Given the description of an element on the screen output the (x, y) to click on. 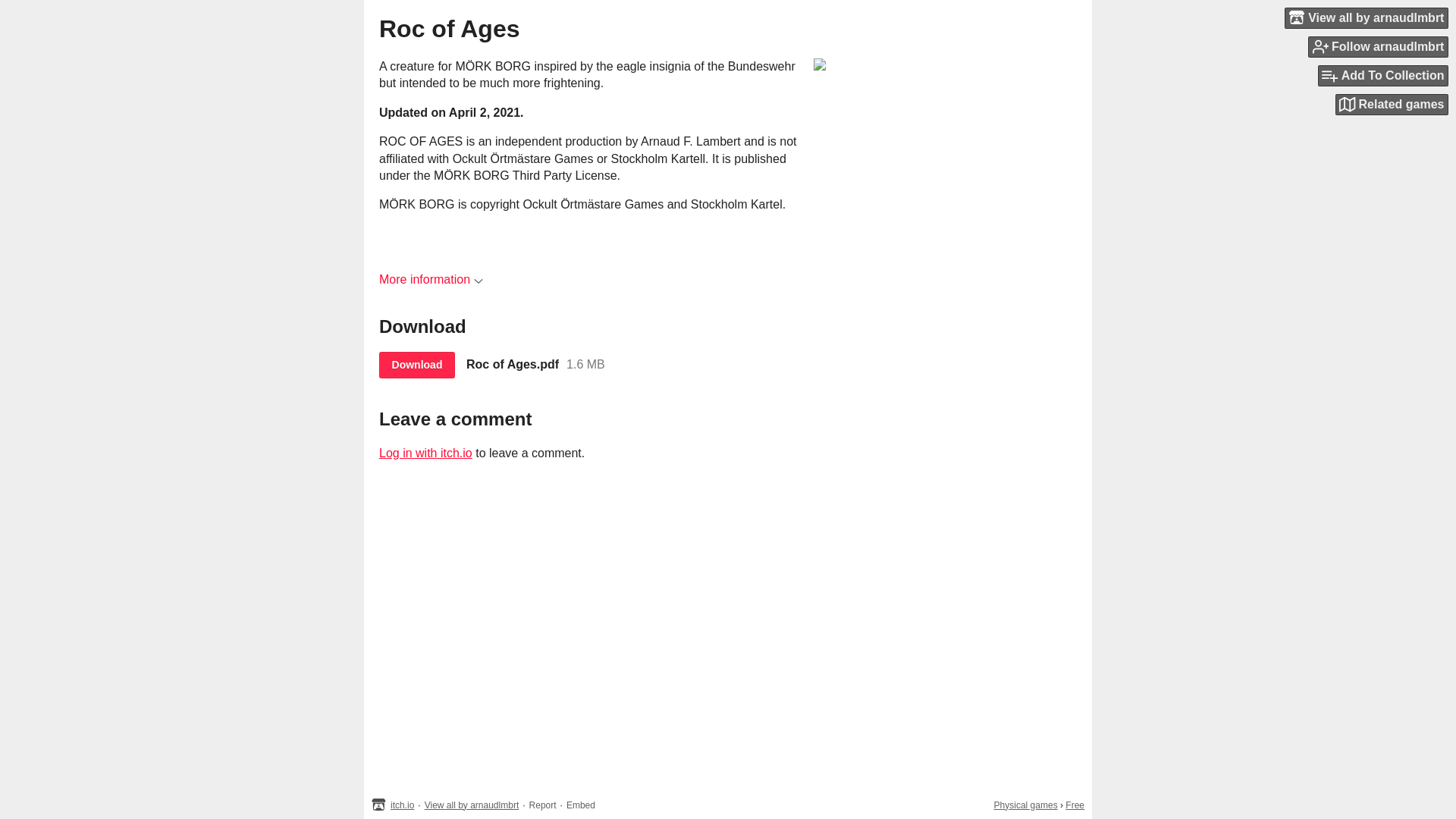
Follow arnaudlmbrt (1377, 46)
Free (1074, 804)
Physical games (1026, 804)
Embed (580, 804)
View all by arnaudlmbrt (472, 804)
Download (416, 365)
Add To Collection (1382, 75)
View all by arnaudlmbrt (1366, 17)
More information (430, 278)
itch.io (401, 804)
Log in with itch.io (424, 452)
Report (542, 804)
Related games (1391, 104)
Roc of Ages.pdf (512, 364)
